Given the description of an element on the screen output the (x, y) to click on. 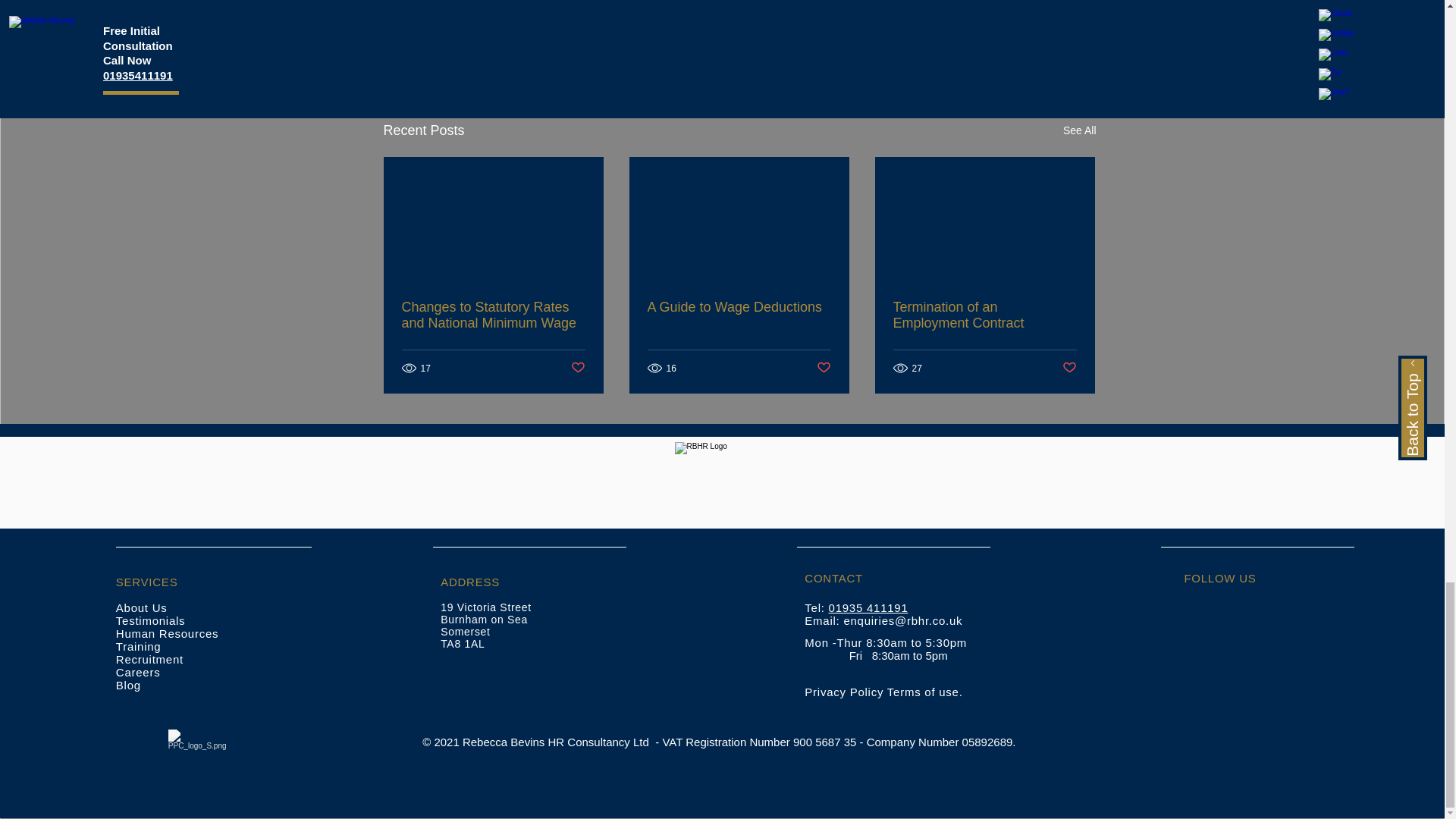
See All (1079, 130)
Changes to Statutory Rates and National Minimum Wage (493, 315)
Post not marked as liked (577, 367)
